Given the description of an element on the screen output the (x, y) to click on. 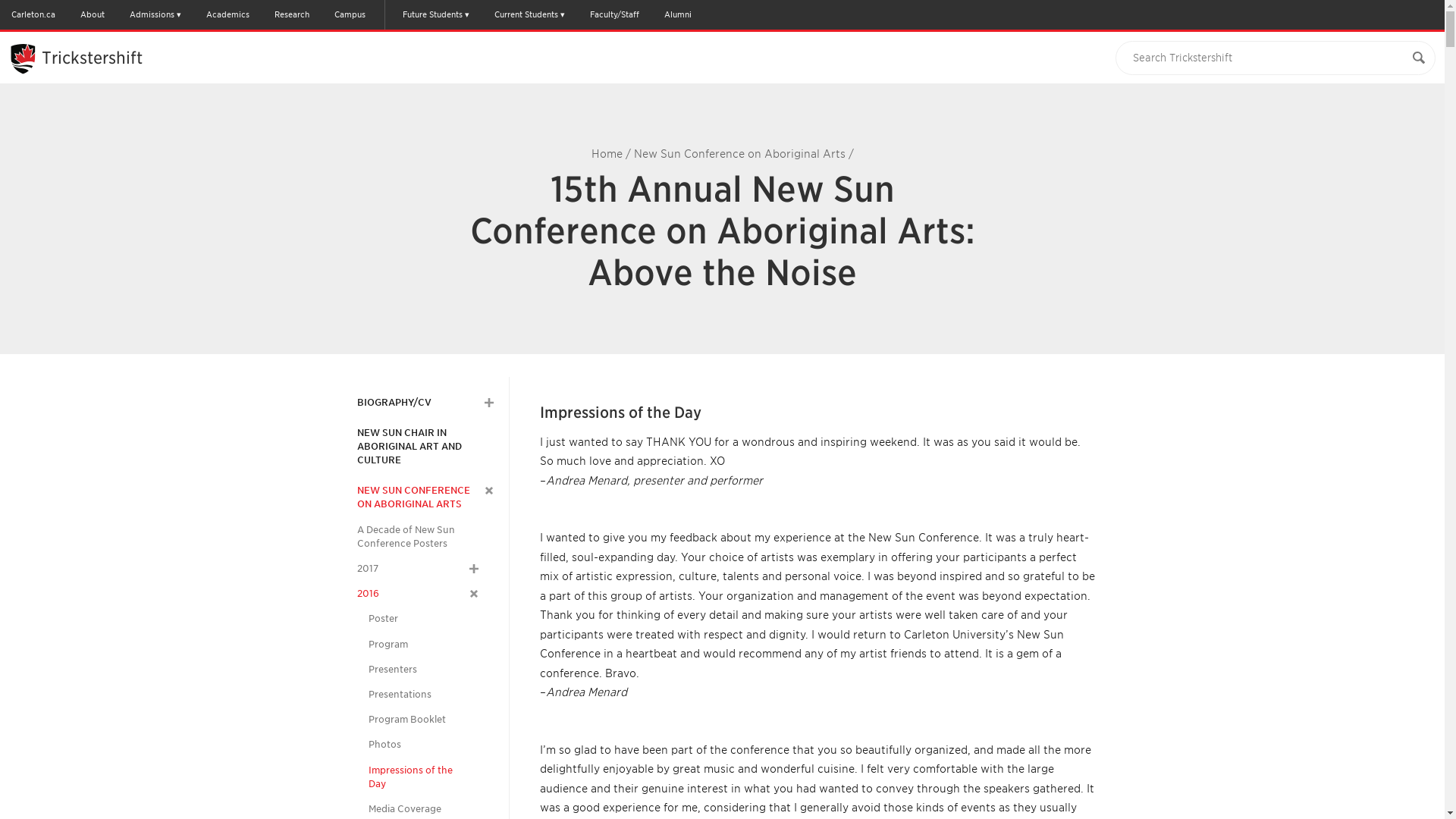
2017 (366, 568)
A Decade of New Sun Conference Posters (416, 536)
Open submenu for 2016 (471, 592)
Alumni (677, 14)
About (92, 14)
Visit Site Homepage (92, 57)
NEW SUN CHAIR IN ABORIGINAL ART AND CULTURE (424, 446)
Research (291, 14)
Home (607, 153)
Current Students (529, 14)
Admissions (155, 14)
Future Students (435, 14)
Campus (349, 14)
Open submenu for New Sun Conference on Aboriginal Arts (486, 488)
Academics (227, 14)
